Given the description of an element on the screen output the (x, y) to click on. 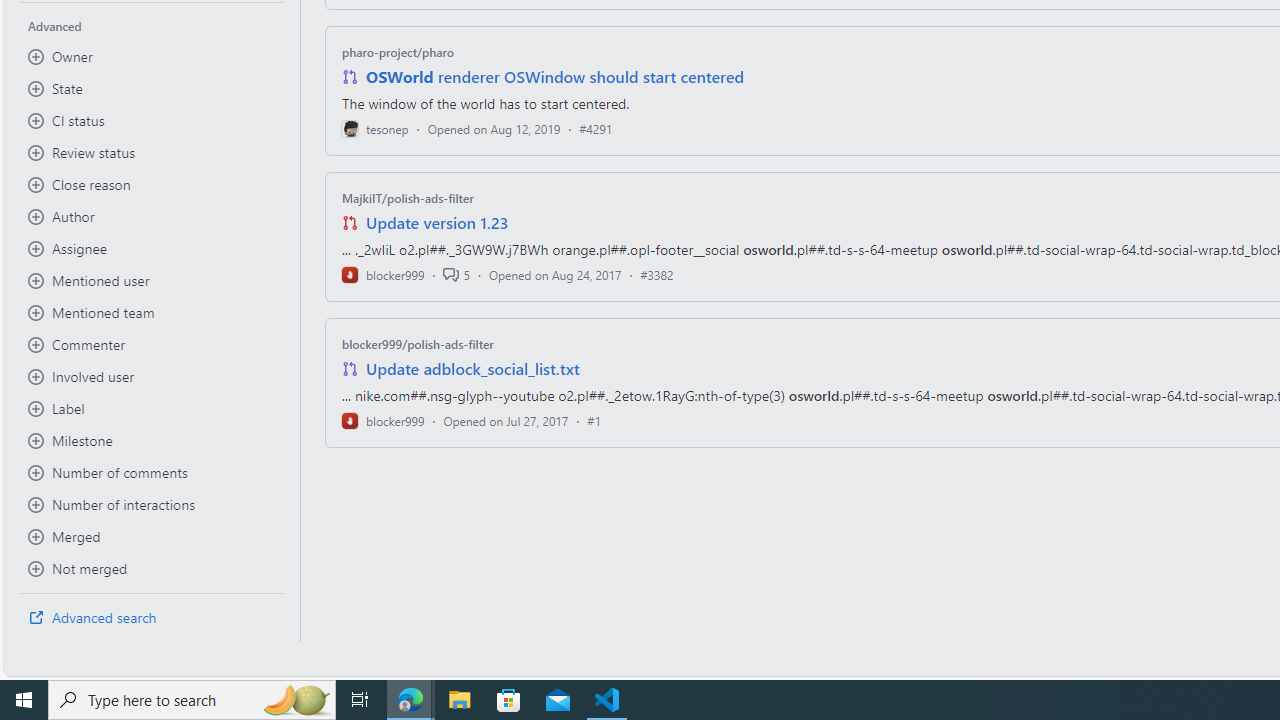
5 (455, 273)
MajkiIT/polish-ads-filter (407, 197)
blocker999 (382, 420)
